Given the description of an element on the screen output the (x, y) to click on. 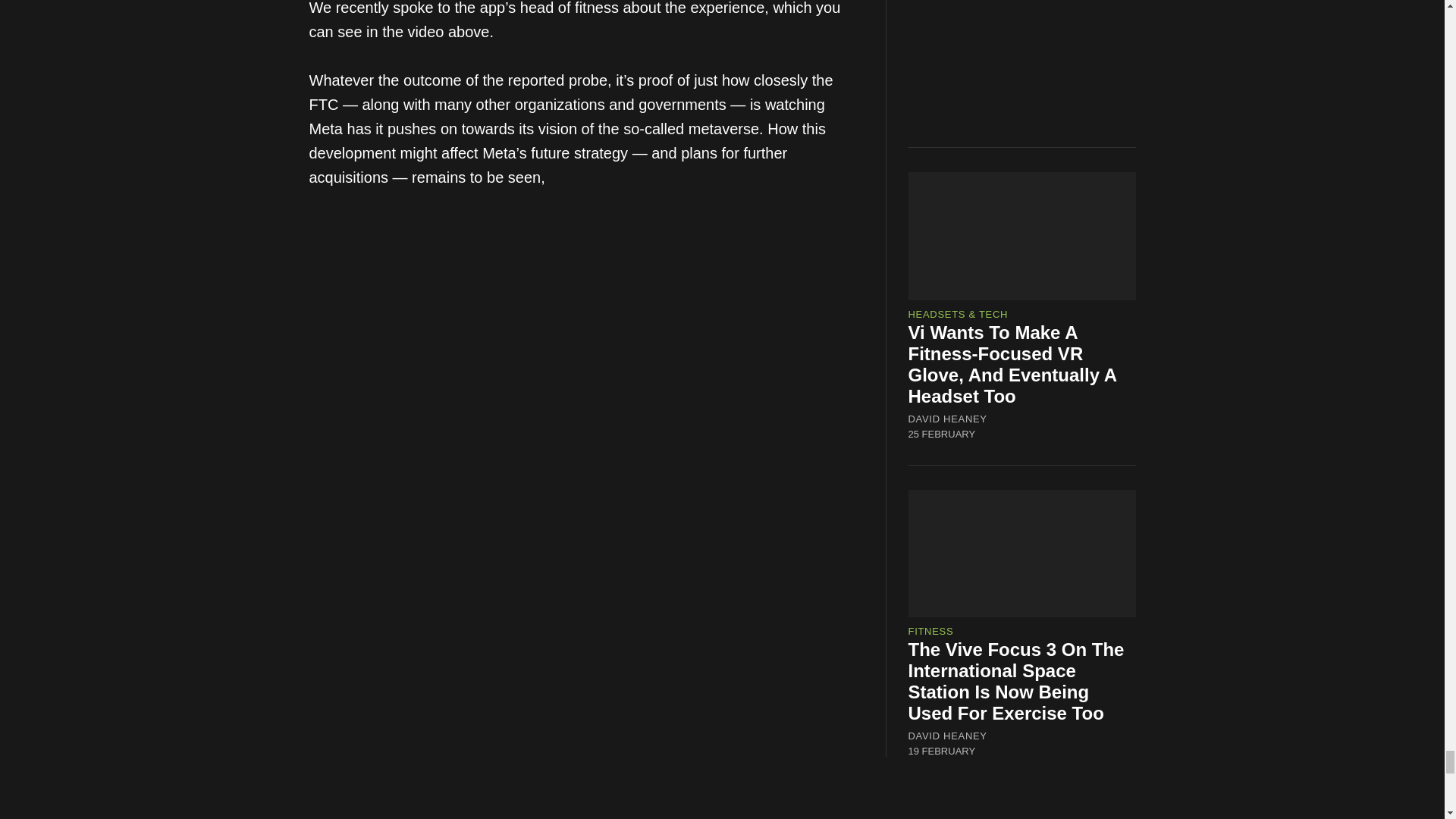
DAVID HEANEY (947, 736)
DAVID HEANEY (947, 418)
FITNESS (930, 631)
